Given the description of an element on the screen output the (x, y) to click on. 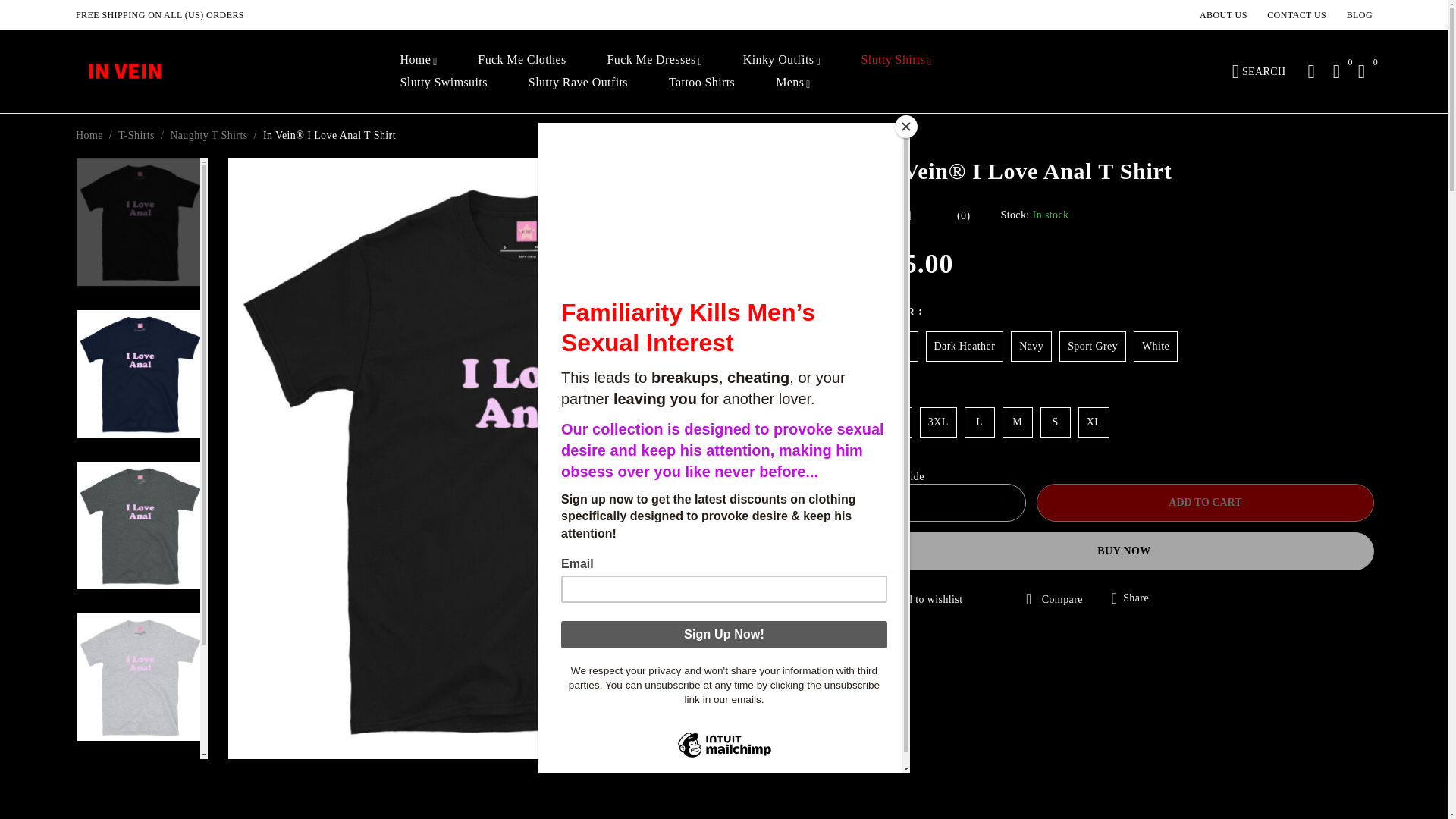
Fuck Me Dresses (651, 59)
Home (415, 59)
Fuck Me Clothes (521, 59)
1 (950, 502)
CONTACT US (1296, 15)
ABOUT US (1223, 15)
BLOG (1359, 15)
In Vein (126, 70)
- (899, 502)
